Given the description of an element on the screen output the (x, y) to click on. 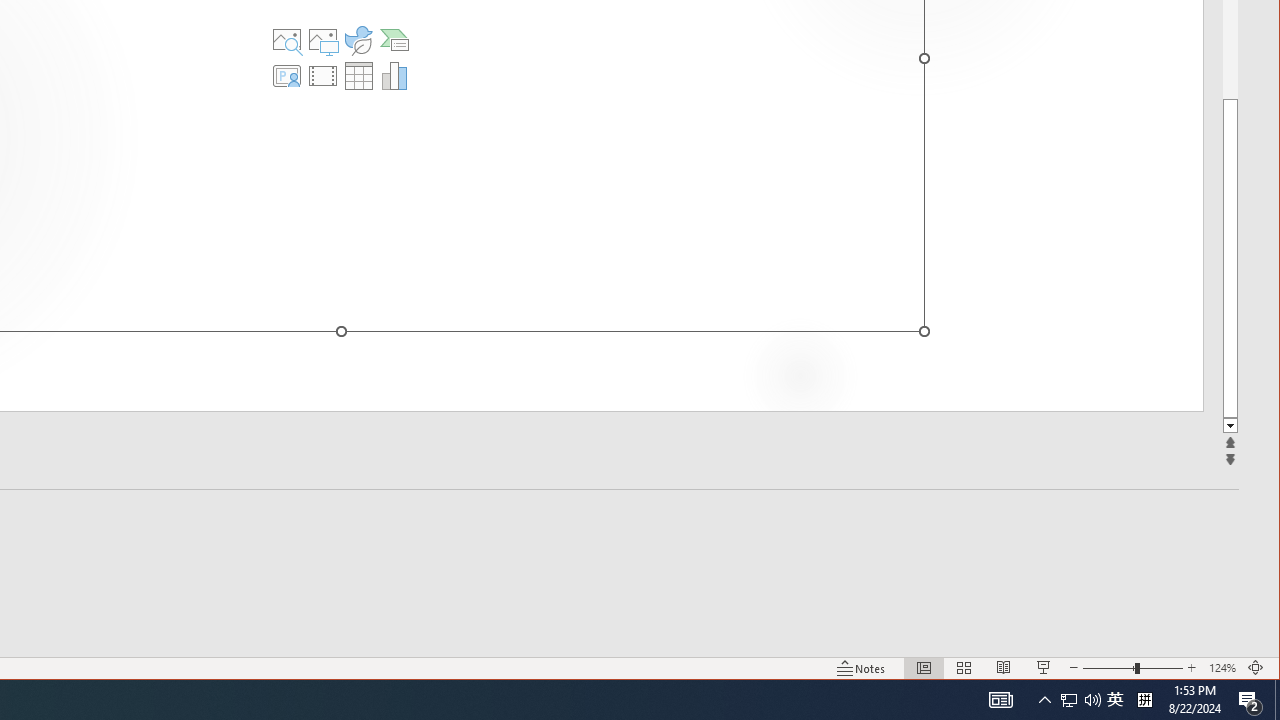
Zoom 124% (1222, 668)
Pictures (323, 39)
Insert an Icon (359, 39)
Insert Chart (394, 75)
Insert Table (359, 75)
Insert a SmartArt Graphic (394, 39)
Stock Images (287, 39)
